Given the description of an element on the screen output the (x, y) to click on. 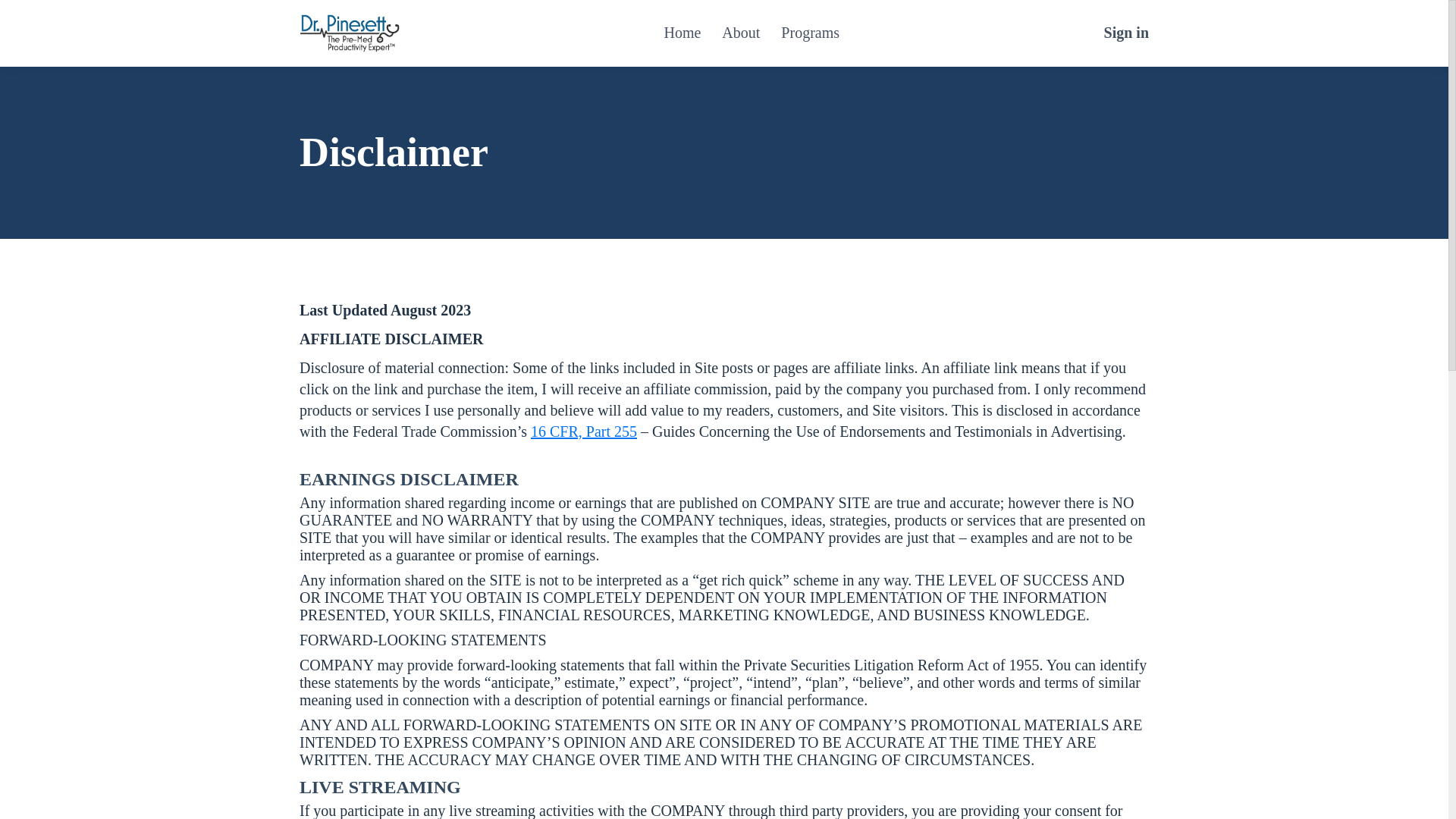
Sign in (1125, 32)
Programs (810, 32)
About (741, 32)
Home (681, 32)
16 CFR, Part 255 (584, 431)
